Given the description of an element on the screen output the (x, y) to click on. 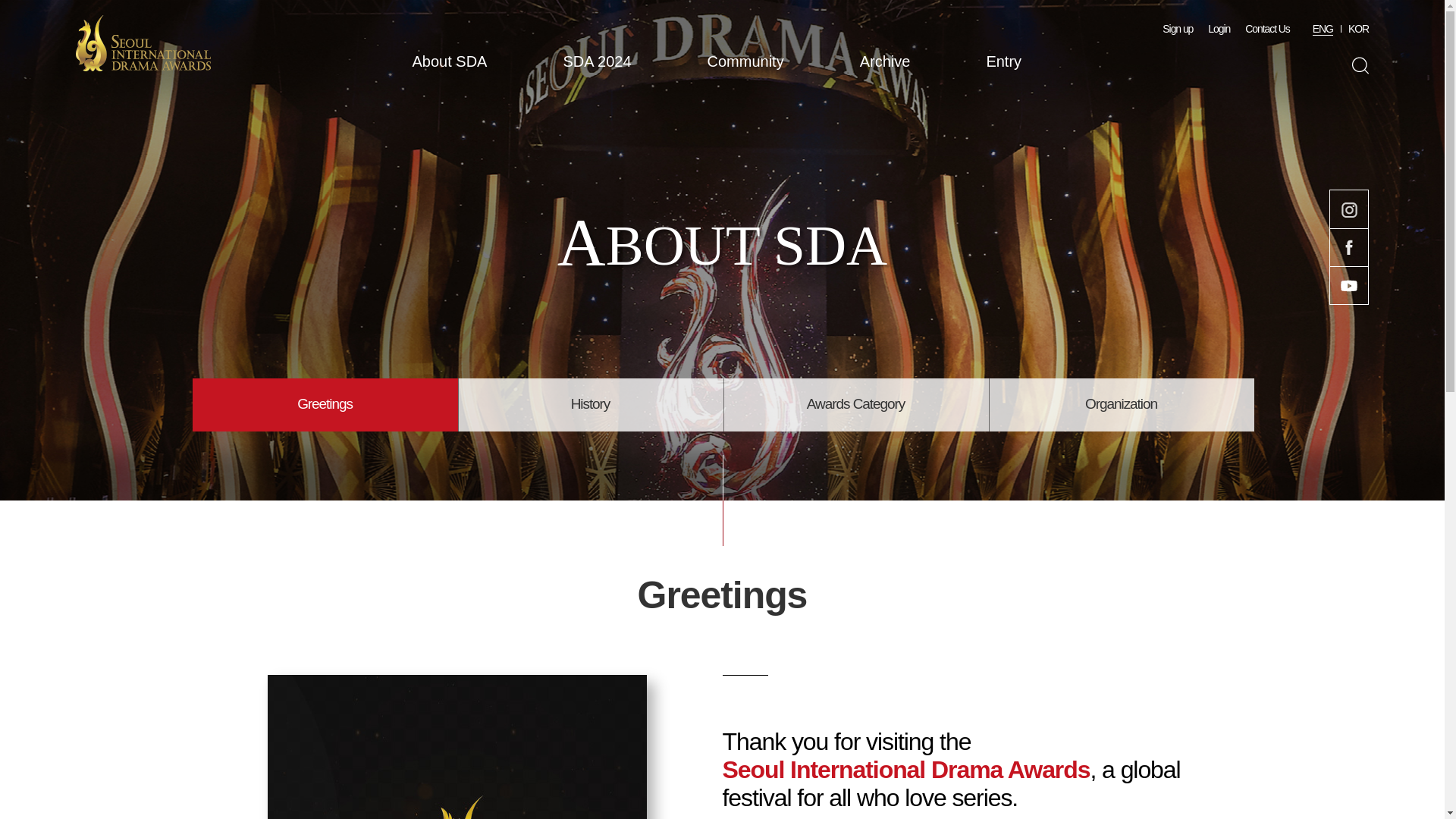
Contact Us (1267, 28)
Sign up (1176, 28)
About SDA (449, 63)
Entry (1003, 63)
SDA 2024 (596, 63)
Archive (885, 63)
KOR (1358, 28)
Community (745, 63)
Search (1359, 65)
Login (1219, 28)
ENG (1323, 28)
